Given the description of an element on the screen output the (x, y) to click on. 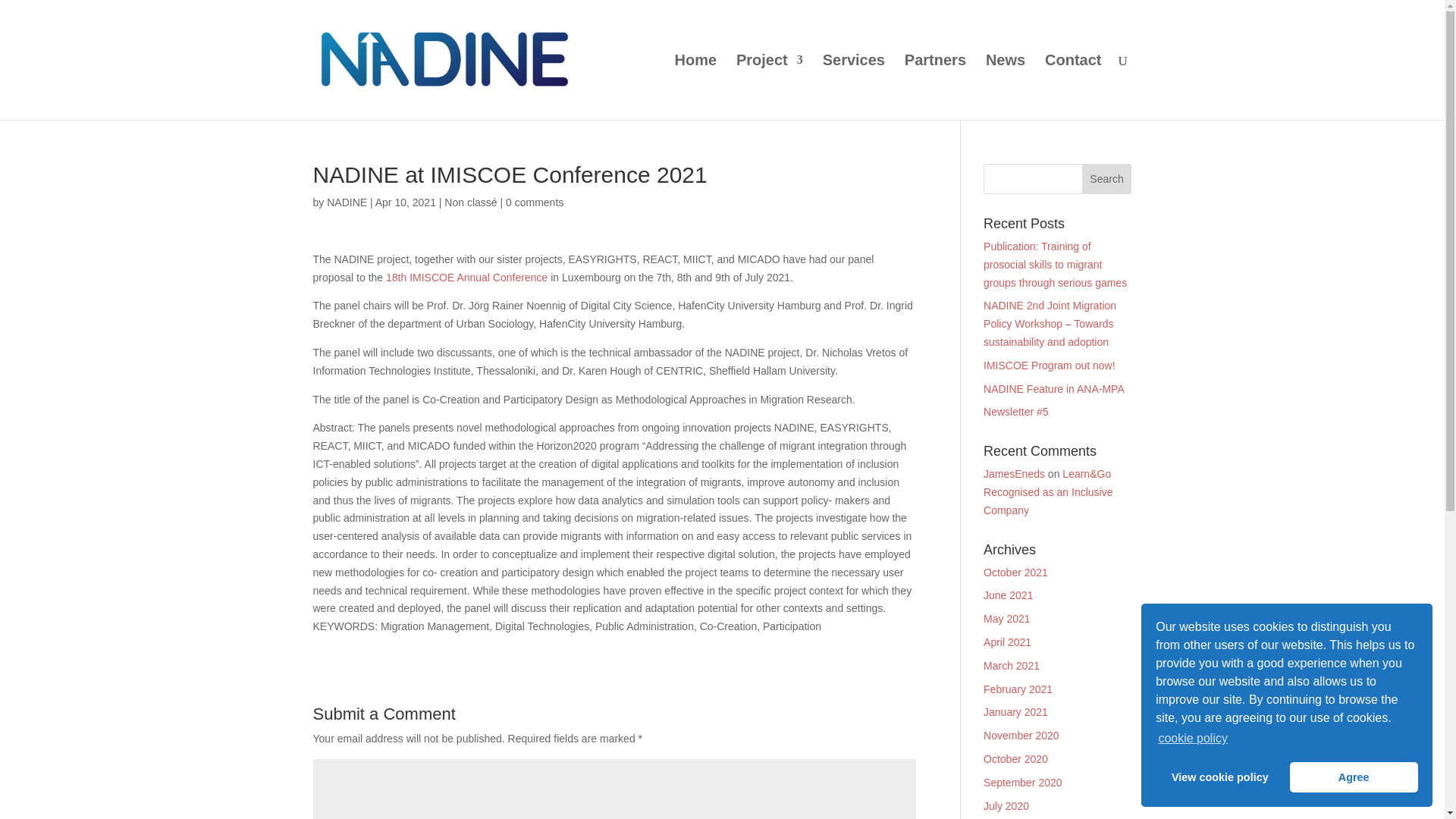
Partners (935, 86)
18th IMISCOE Annual Conference (466, 277)
IMISCOE Program out now! (1049, 365)
View cookie policy (1220, 777)
Agree (1354, 777)
Search (1106, 178)
0 comments (534, 202)
Posts by NADINE (346, 202)
NADINE (346, 202)
